Given the description of an element on the screen output the (x, y) to click on. 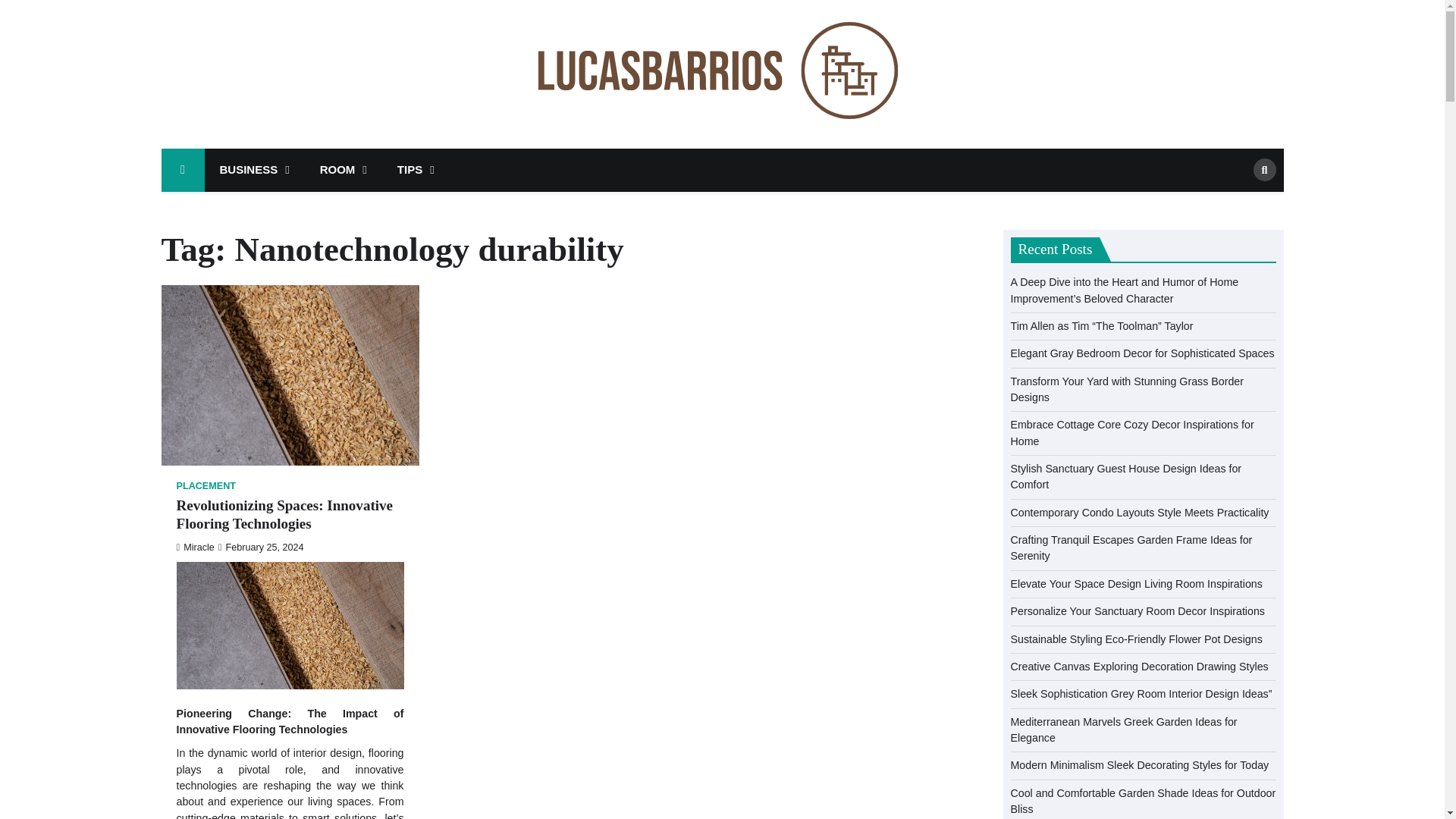
Miracle (195, 547)
Sustainable Styling Eco-Friendly Flower Pot Designs (1136, 638)
LUCASBARRIOS (1059, 94)
BUSINESS (254, 169)
TIPS (415, 169)
Search (1238, 202)
Transform Your Yard with Stunning Grass Border Designs (1126, 389)
Personalize Your Sanctuary Room Decor Inspirations (1136, 611)
February 25, 2024 (261, 547)
Search (1263, 169)
Revolutionizing Spaces: Innovative Flooring Technologies (289, 515)
Mediterranean Marvels Greek Garden Ideas for Elegance (1123, 729)
PLACEMENT (205, 486)
Contemporary Condo Layouts Style Meets Practicality (1139, 512)
Stylish Sanctuary Guest House Design Ideas for Comfort (1125, 476)
